Given the description of an element on the screen output the (x, y) to click on. 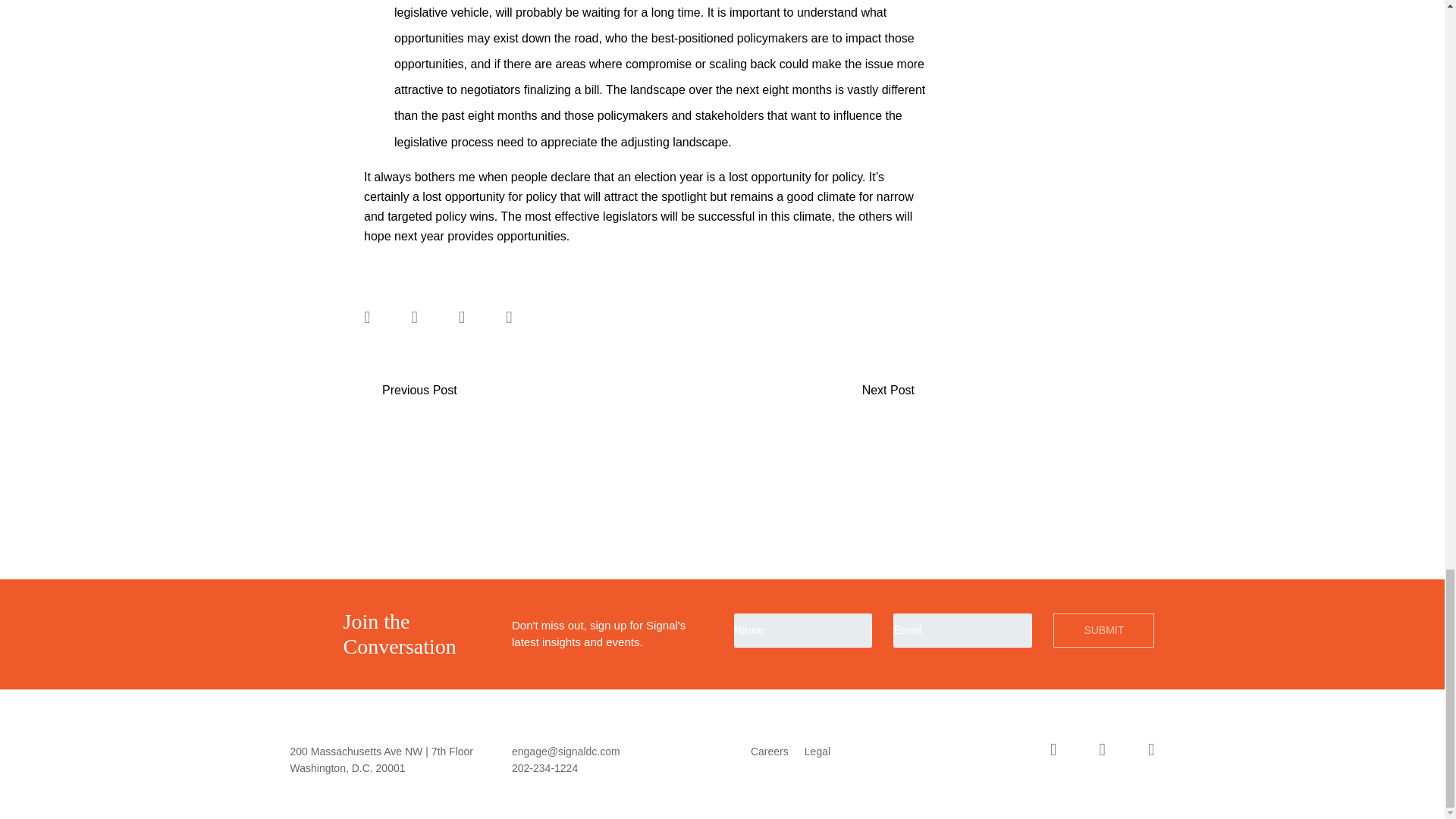
Careers (410, 390)
SUBMIT (770, 751)
Legal (897, 390)
SUBMIT (1103, 630)
